Given the description of an element on the screen output the (x, y) to click on. 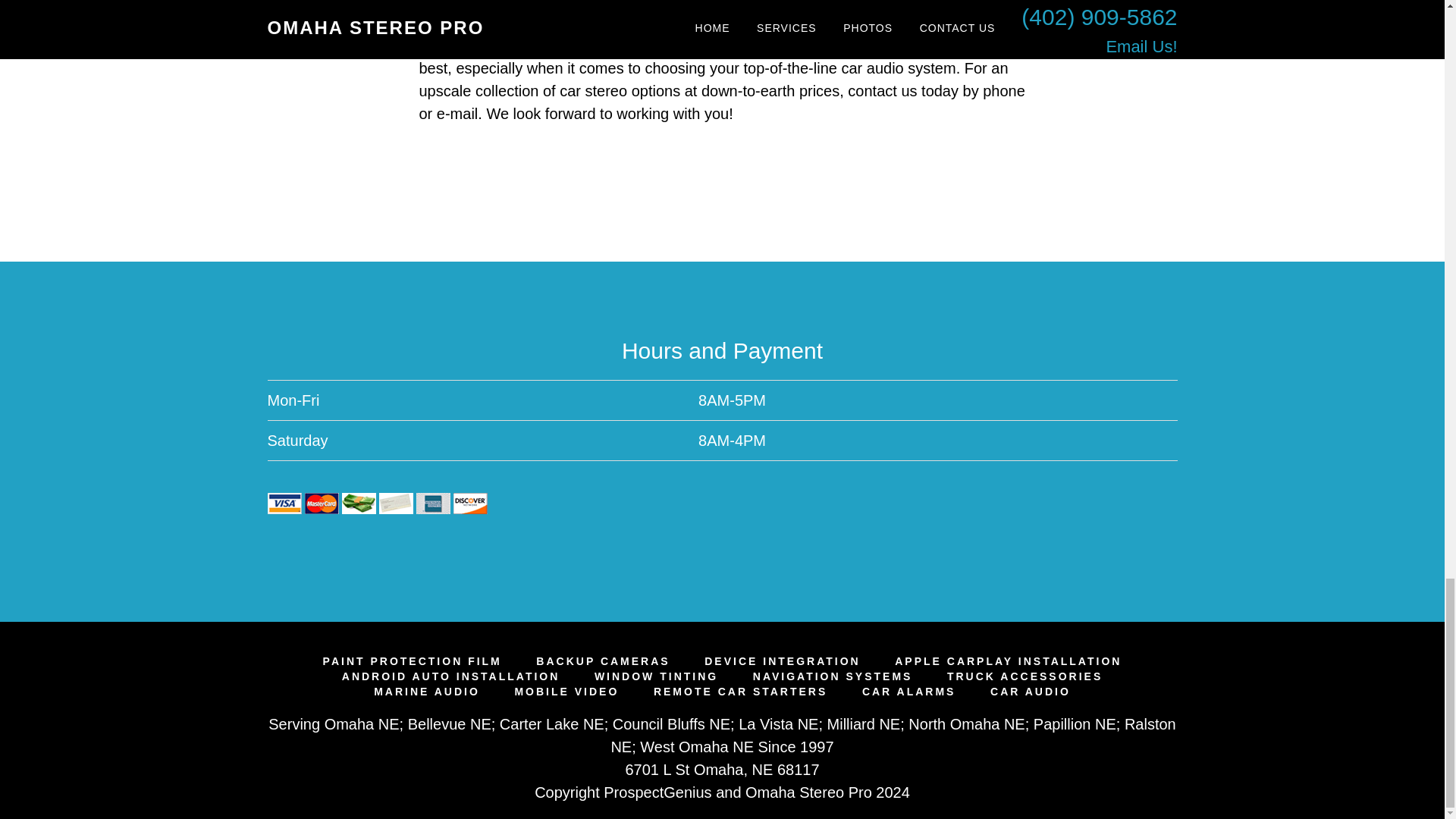
MARINE AUDIO (427, 691)
APPLE CARPLAY INSTALLATION (1008, 661)
MOBILE VIDEO (565, 691)
WINDOW TINTING (655, 675)
NAVIGATION SYSTEMS (832, 675)
TRUCK ACCESSORIES (1024, 675)
ProspectGenius (657, 791)
ANDROID AUTO INSTALLATION (451, 675)
BACKUP CAMERAS (602, 661)
DEVICE INTEGRATION (782, 661)
